Given the description of an element on the screen output the (x, y) to click on. 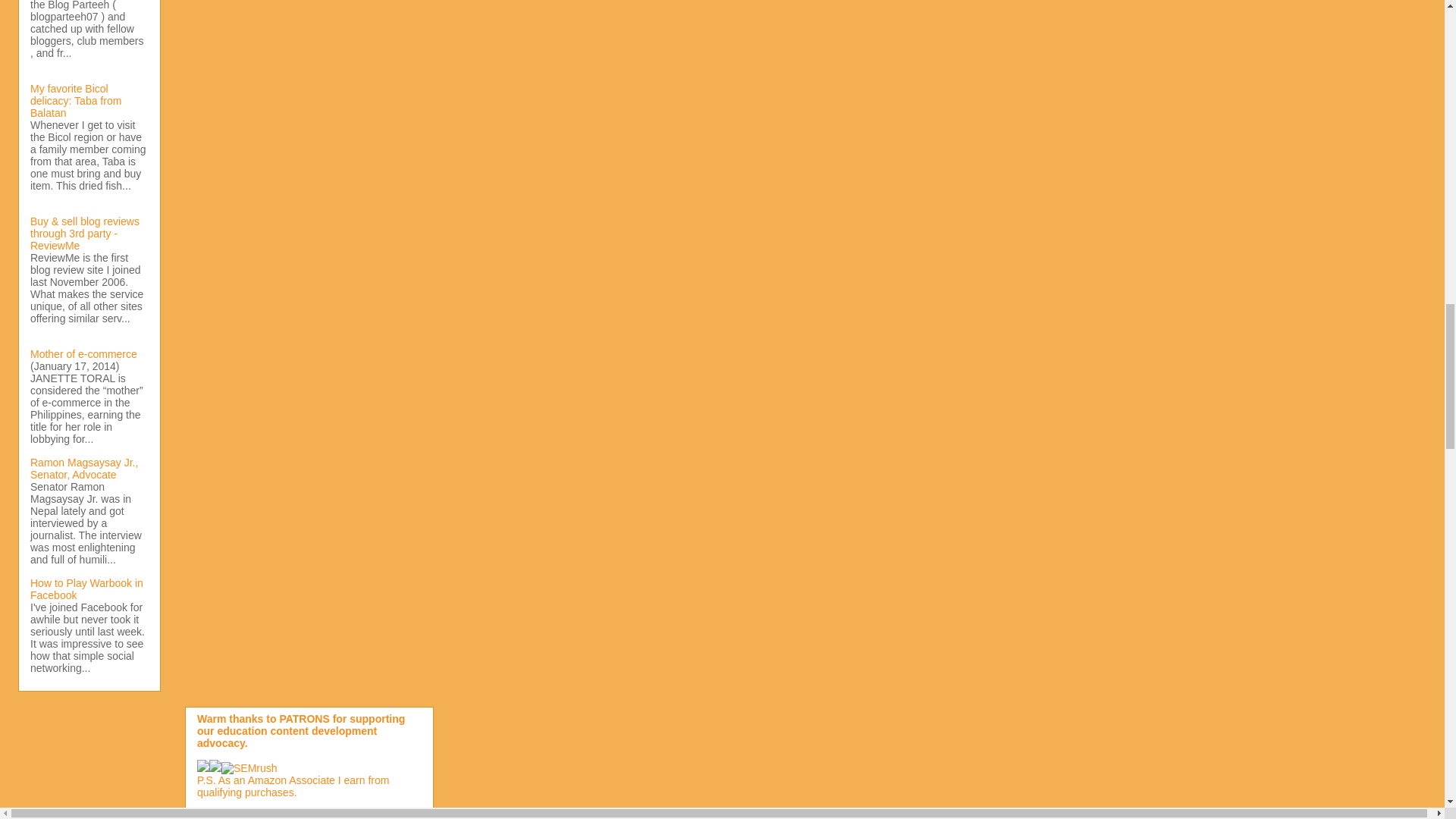
Mother of e-commerce (83, 354)
My favorite Bicol delicacy: Taba from Balatan (75, 100)
SEMrush (237, 767)
How to Play Warbook in Facebook (86, 589)
Ramon Magsaysay Jr., Senator, Advocate (84, 468)
